Given the description of an element on the screen output the (x, y) to click on. 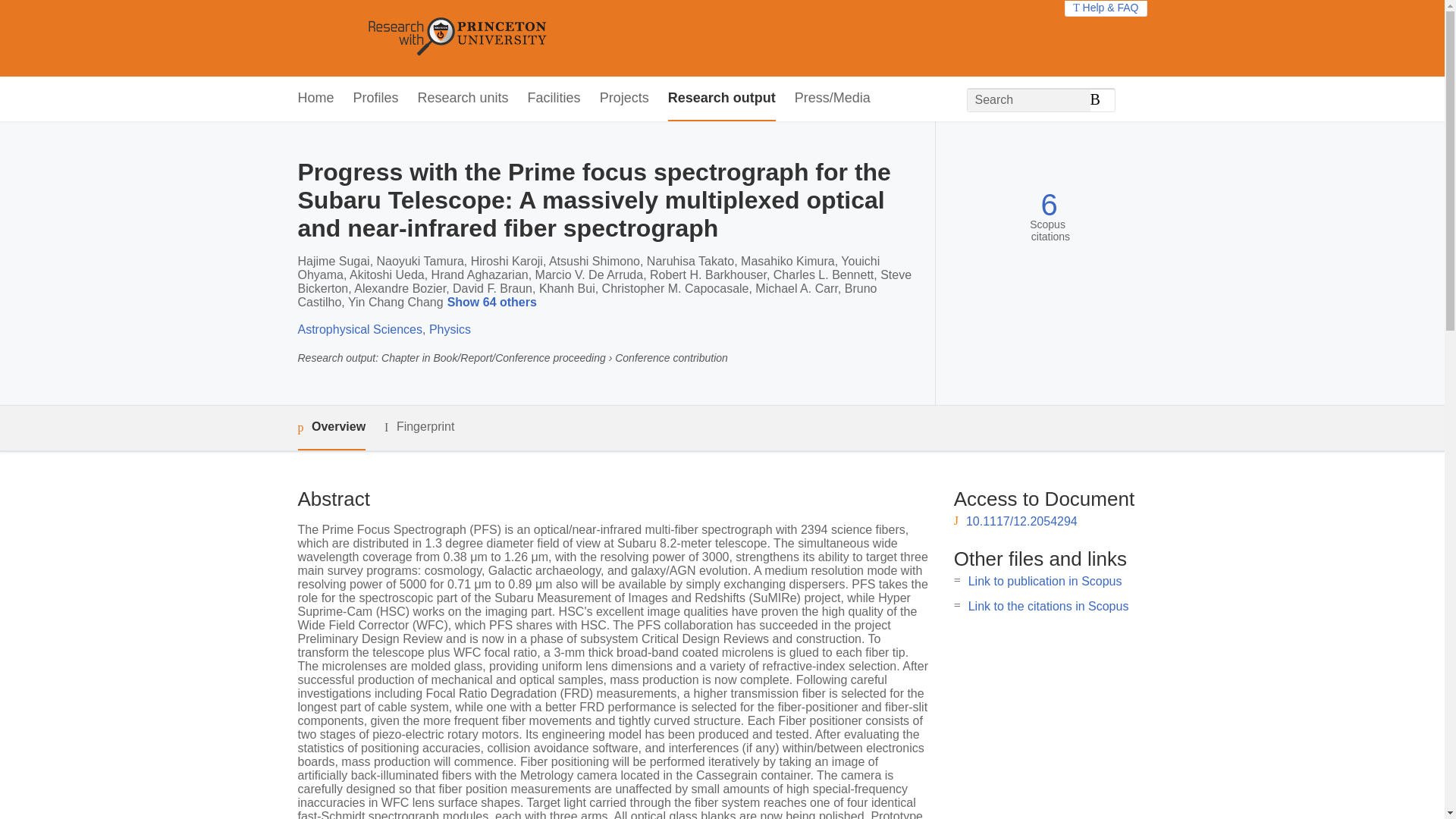
Astrophysical Sciences (359, 328)
Research output (722, 98)
Projects (624, 98)
Facilities (553, 98)
Link to the citations in Scopus (1048, 605)
Profiles (375, 98)
Link to publication in Scopus (1045, 581)
Fingerprint (419, 426)
Research units (462, 98)
Show 64 others (495, 303)
